Given the description of an element on the screen output the (x, y) to click on. 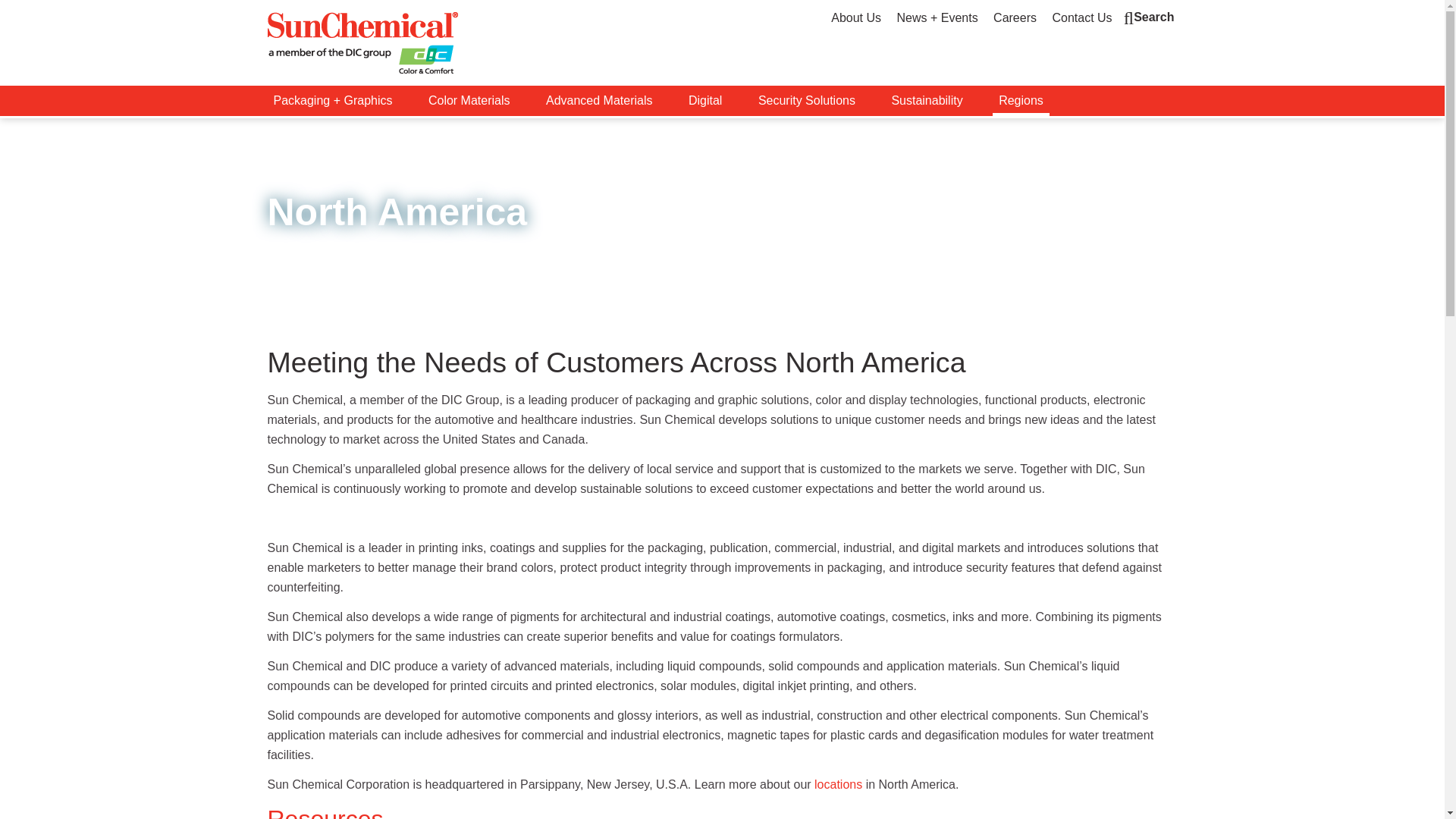
Careers (1014, 18)
Search (1149, 18)
Contact Us (1081, 18)
Color Materials (469, 100)
About Us (855, 18)
